Given the description of an element on the screen output the (x, y) to click on. 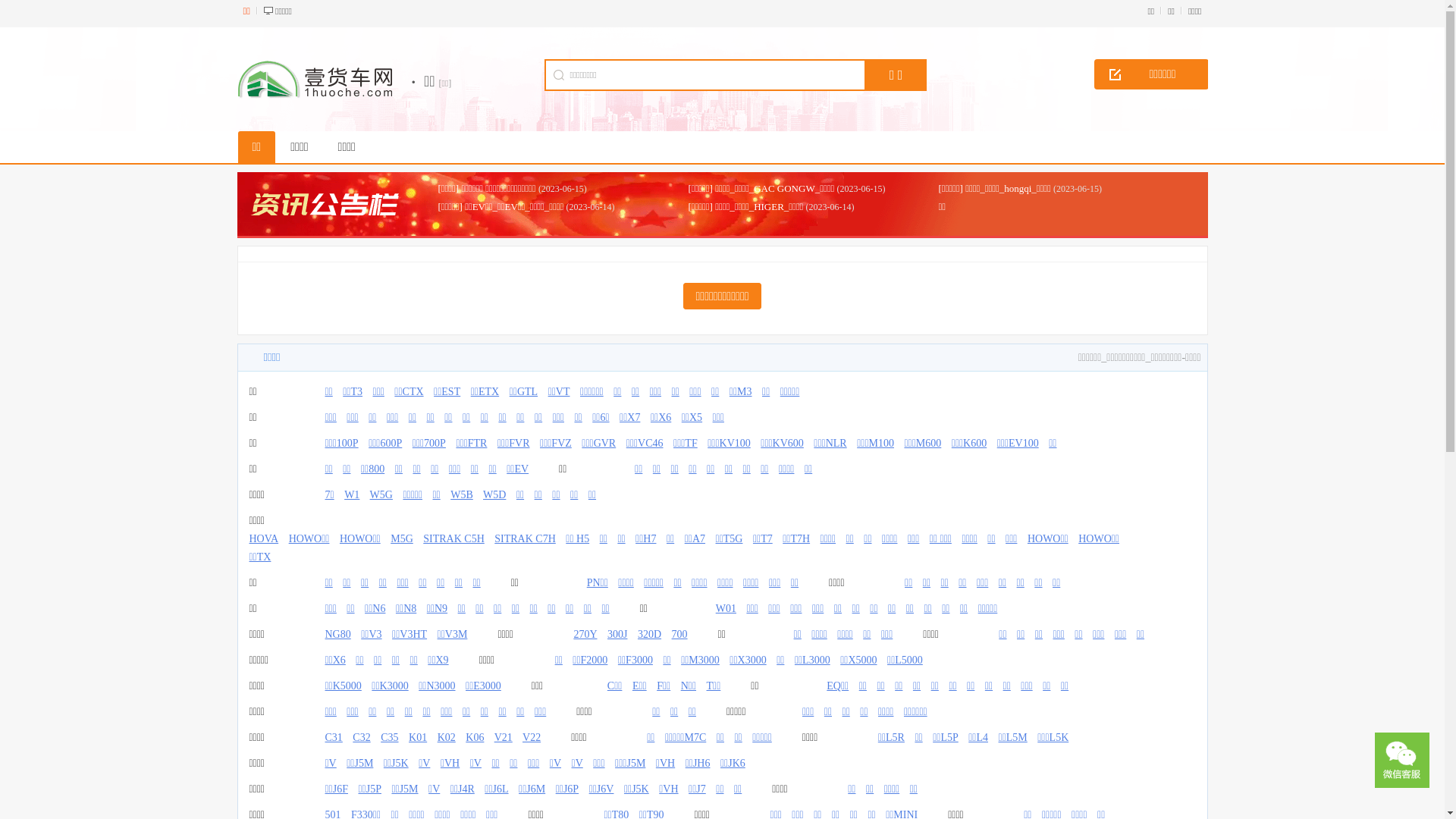
V22 Element type: text (531, 737)
M5G Element type: text (401, 538)
W1 Element type: text (351, 494)
270Y Element type: text (584, 634)
C32 Element type: text (361, 737)
300J Element type: text (617, 634)
K02 Element type: text (446, 737)
K01 Element type: text (417, 737)
W5B Element type: text (461, 494)
320D Element type: text (649, 634)
SITRAK C7H Element type: text (524, 538)
SITRAK C5H Element type: text (453, 538)
W5G Element type: text (381, 494)
K06 Element type: text (474, 737)
W01 Element type: text (725, 608)
C31 Element type: text (333, 737)
700 Element type: text (679, 634)
V21 Element type: text (503, 737)
NG80 Element type: text (337, 634)
W5D Element type: text (494, 494)
HOVA Element type: text (263, 538)
C35 Element type: text (389, 737)
